Given the description of an element on the screen output the (x, y) to click on. 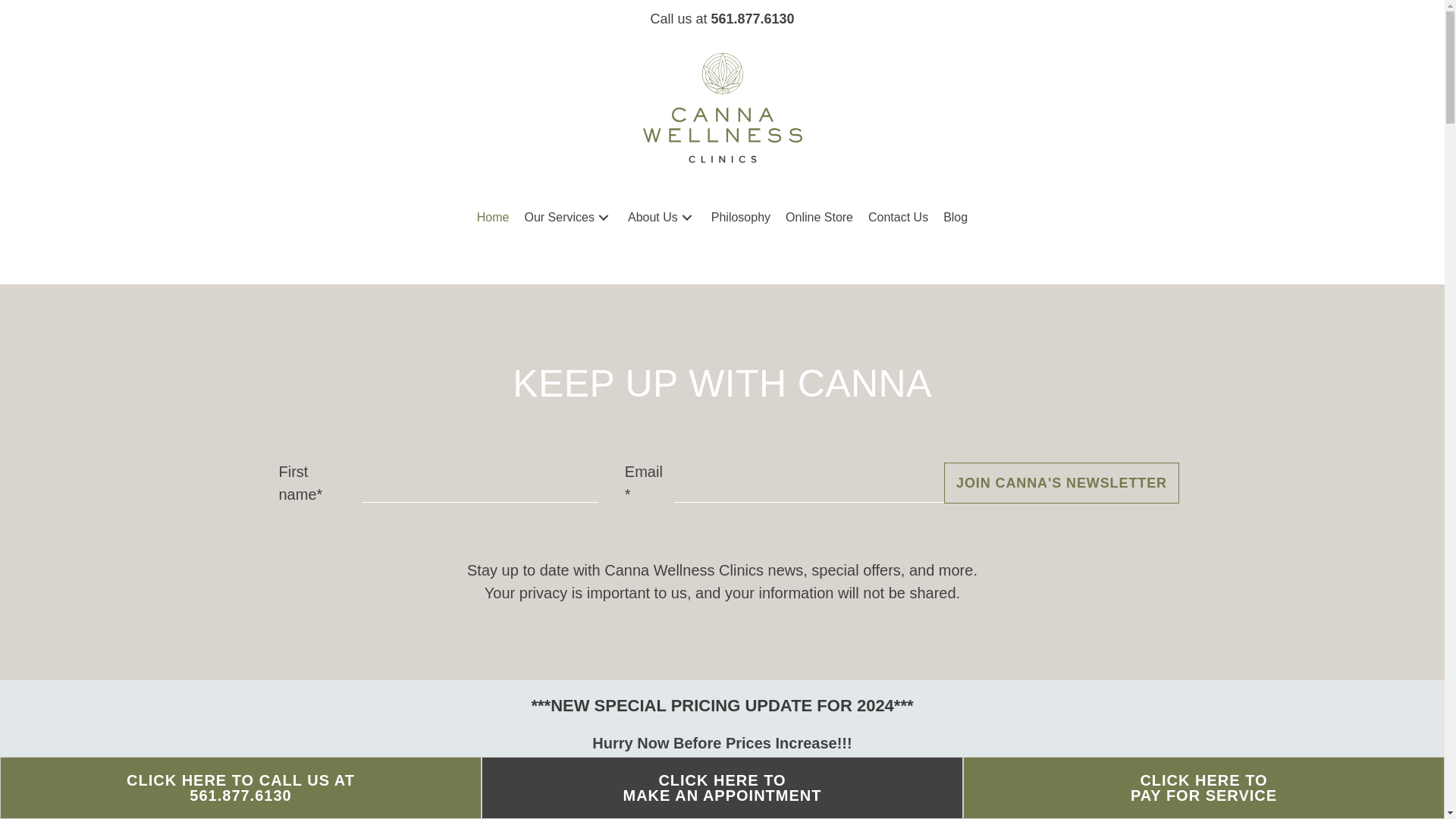
About Us (661, 216)
561.877.6130 (751, 18)
Contact Us (898, 216)
Online Store (818, 216)
Our Services (568, 216)
Call Us (751, 18)
Blog (955, 216)
Join Canna's Newsletter (1061, 482)
Join Canna's Newsletter (1061, 482)
Philosophy (740, 216)
Home (492, 216)
Canna Wellness Clinics Logo - Stacked Logo (722, 107)
